Given the description of an element on the screen output the (x, y) to click on. 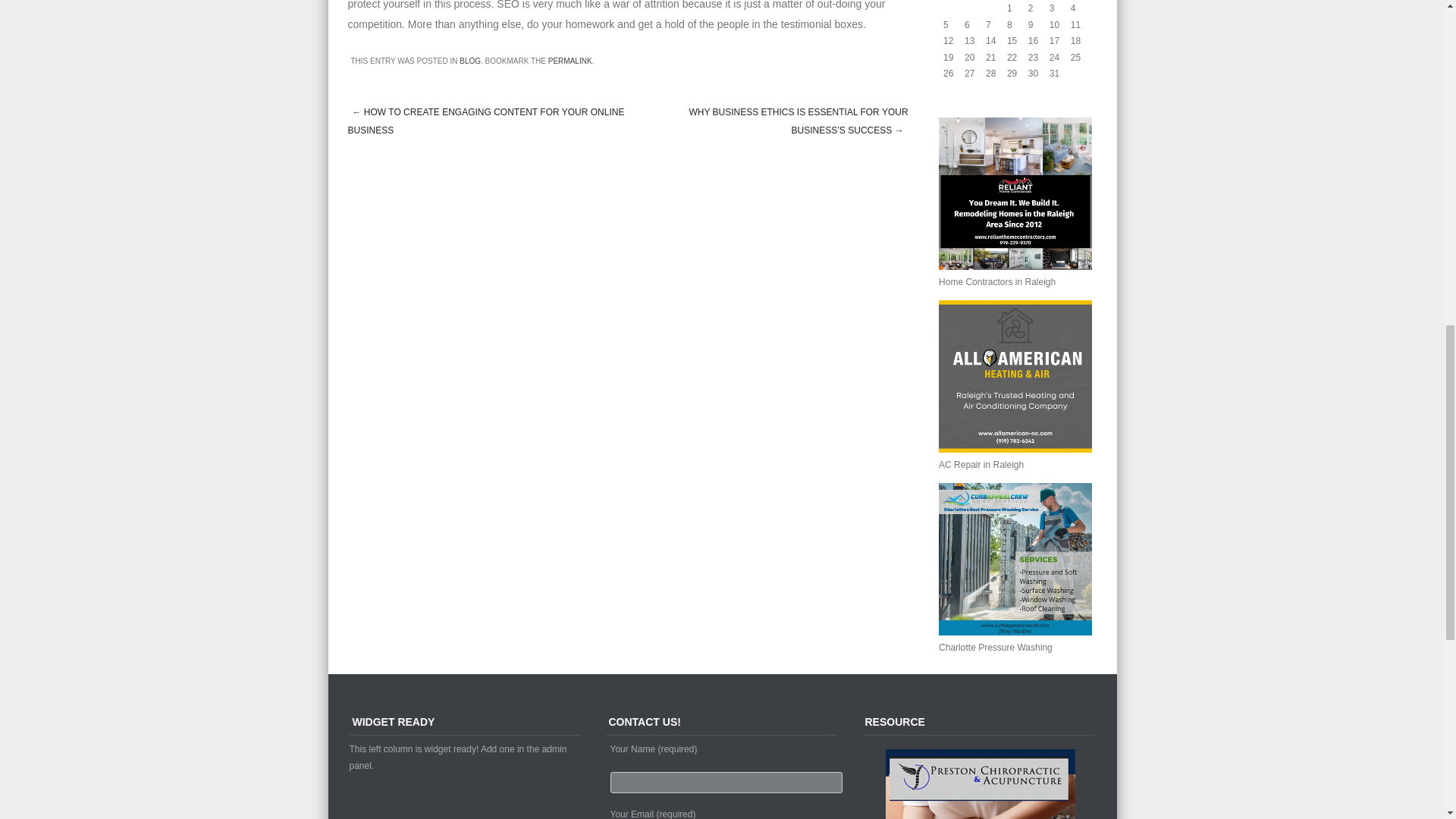
BLOG (470, 60)
PERMALINK (570, 60)
